Given the description of an element on the screen output the (x, y) to click on. 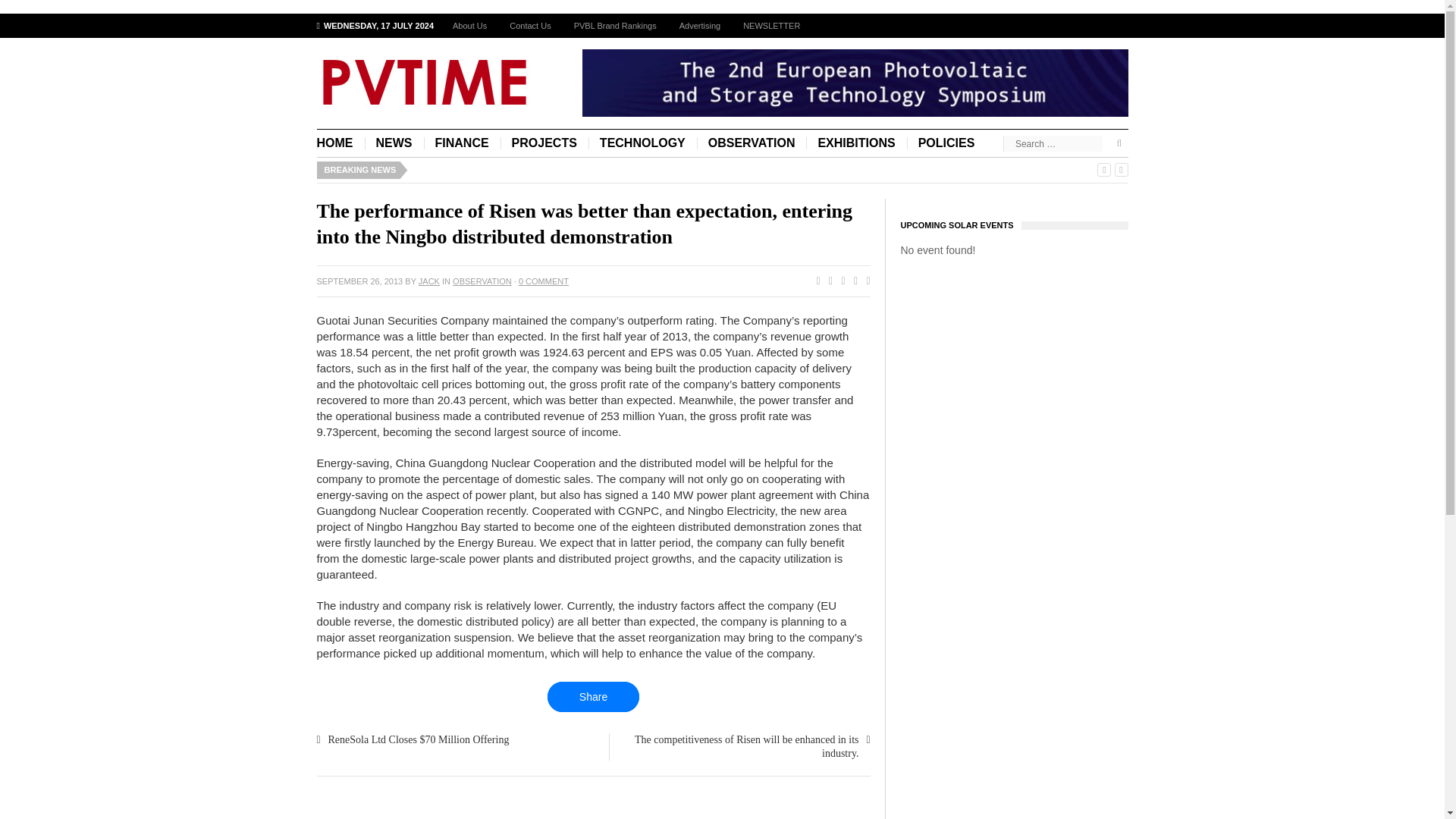
LinkedIn (864, 281)
GooglePlus (839, 281)
POLICIES (947, 142)
Pinterest (852, 281)
PROJECTS (544, 142)
OBSERVATION (751, 142)
JACK (429, 280)
0 COMMENT (543, 280)
NEWS (393, 142)
Advertising (700, 25)
Facebook (814, 281)
About Us (469, 25)
Share (593, 696)
PVBL Brand Rankings (615, 25)
